Given the description of an element on the screen output the (x, y) to click on. 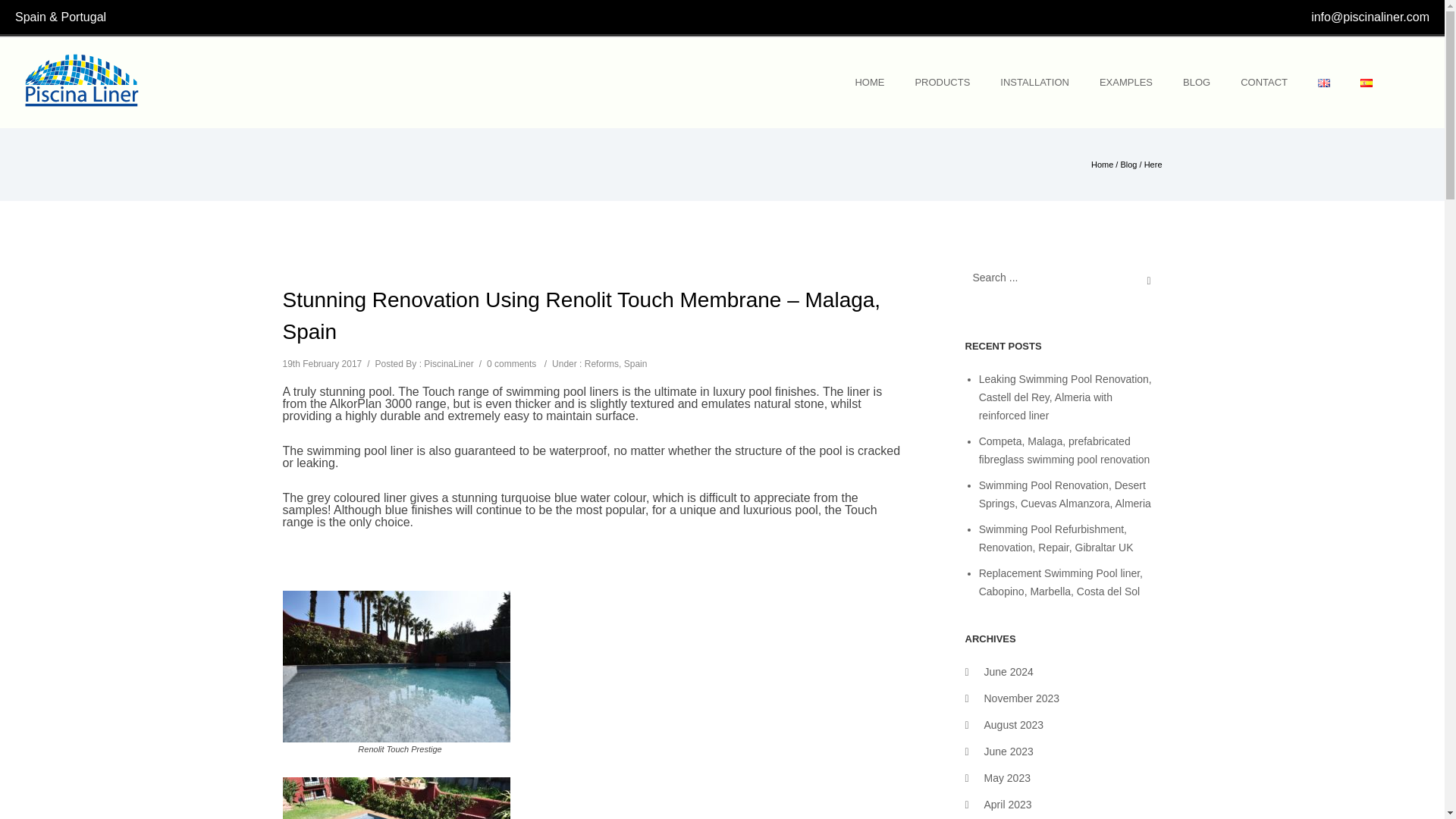
0 comments (510, 363)
Reforms (601, 363)
Installation (1034, 81)
Products (942, 81)
INSTALLATION (1034, 81)
Blog (1128, 163)
EXAMPLES (1125, 81)
Home (869, 81)
BLOG (1196, 81)
Contact (1264, 81)
